Given the description of an element on the screen output the (x, y) to click on. 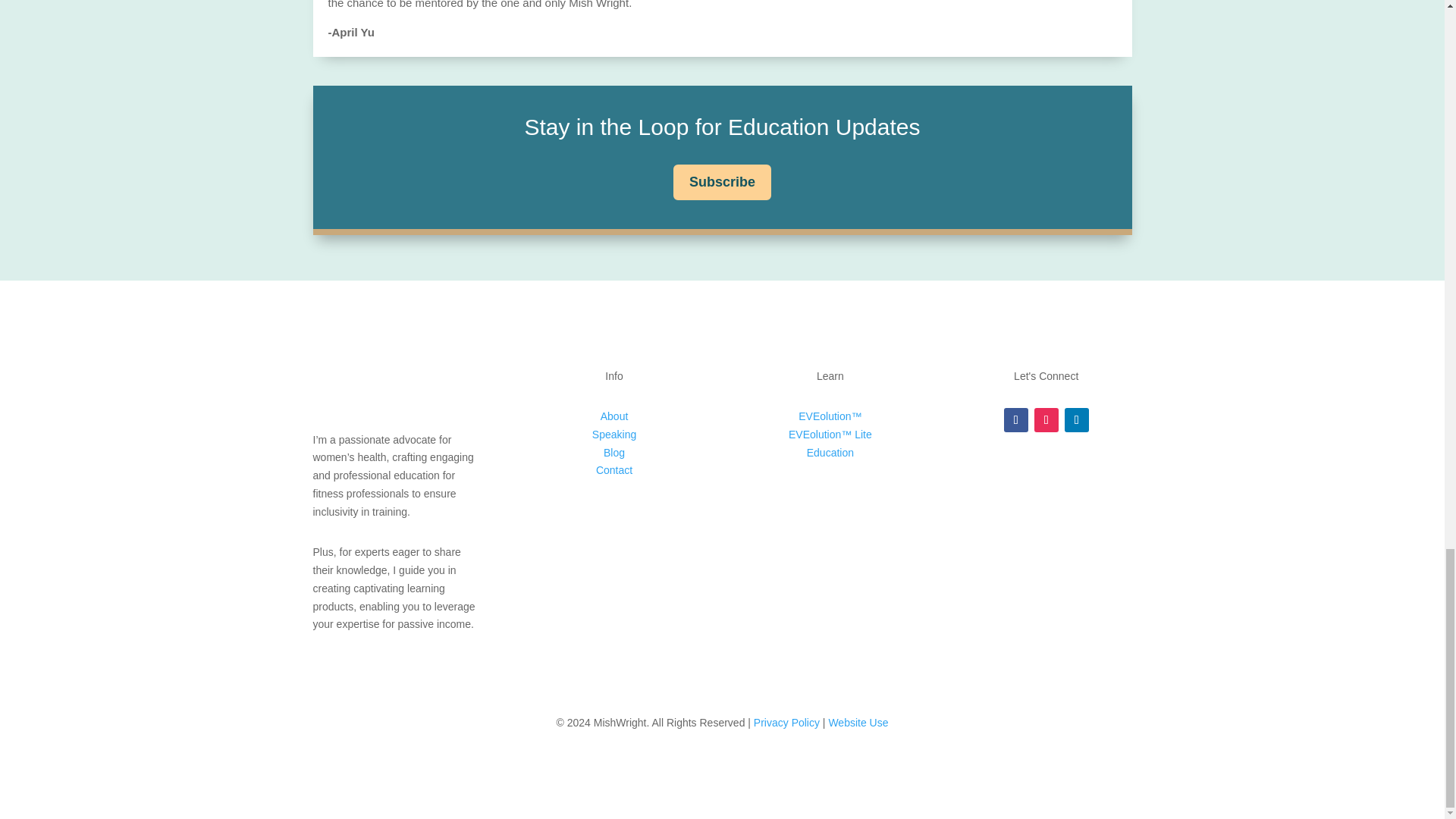
Follow on Facebook (1015, 419)
Follow on Instagram (1045, 419)
Speaking (614, 434)
About (613, 416)
Contact (613, 469)
Blog (614, 452)
